Given the description of an element on the screen output the (x, y) to click on. 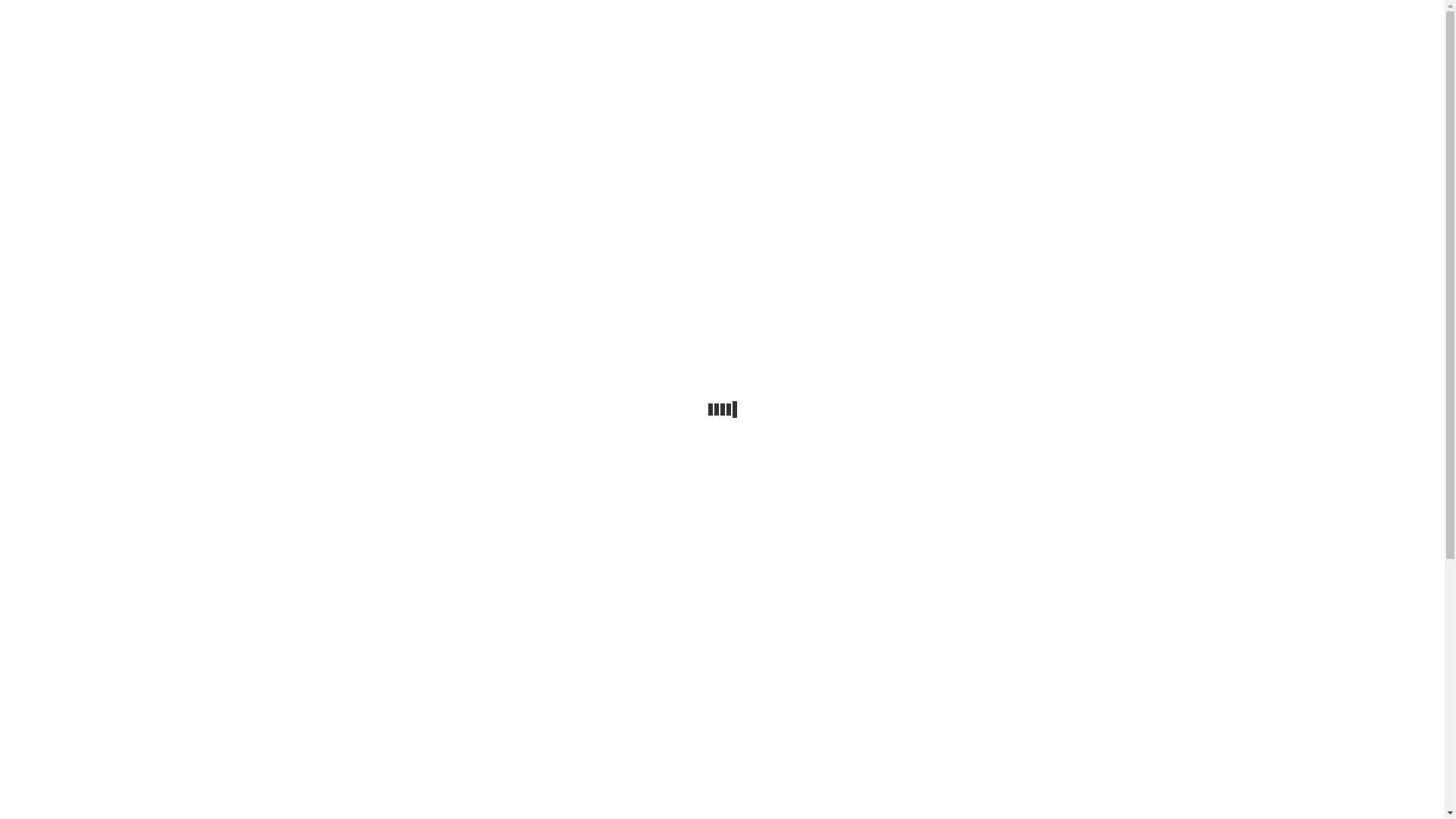
Advertisement Element type: hover (721, 225)
Goroda.by Element type: text (722, 74)
